Given the description of an element on the screen output the (x, y) to click on. 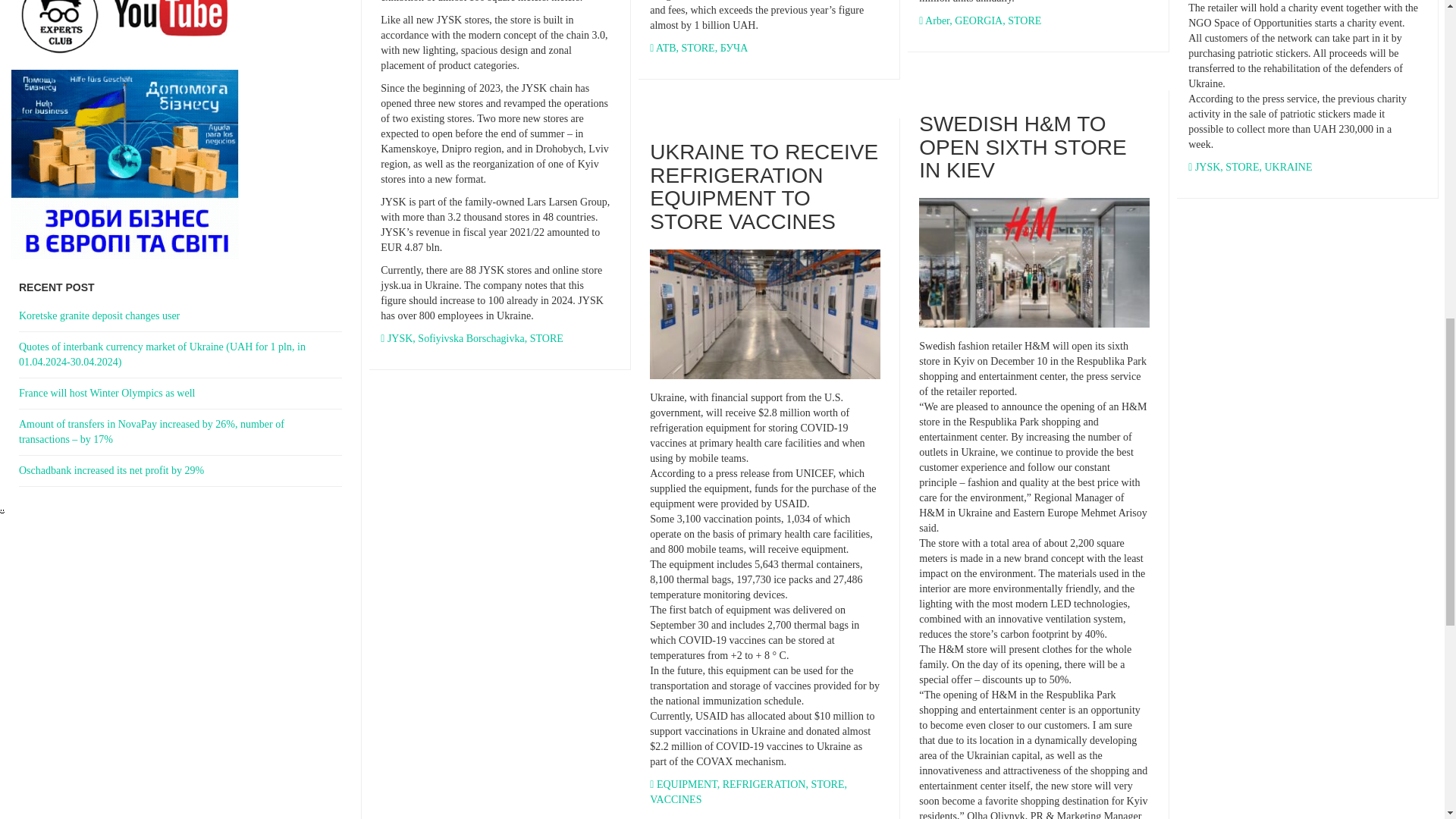
STORE (1024, 20)
STORE (1242, 166)
GEORGIA (979, 20)
ATB (665, 48)
STORE (697, 48)
JYSK (399, 337)
Arber (936, 20)
STORE (546, 337)
Sofiyivska Borschagivka (470, 337)
JYSK (1207, 166)
